Given the description of an element on the screen output the (x, y) to click on. 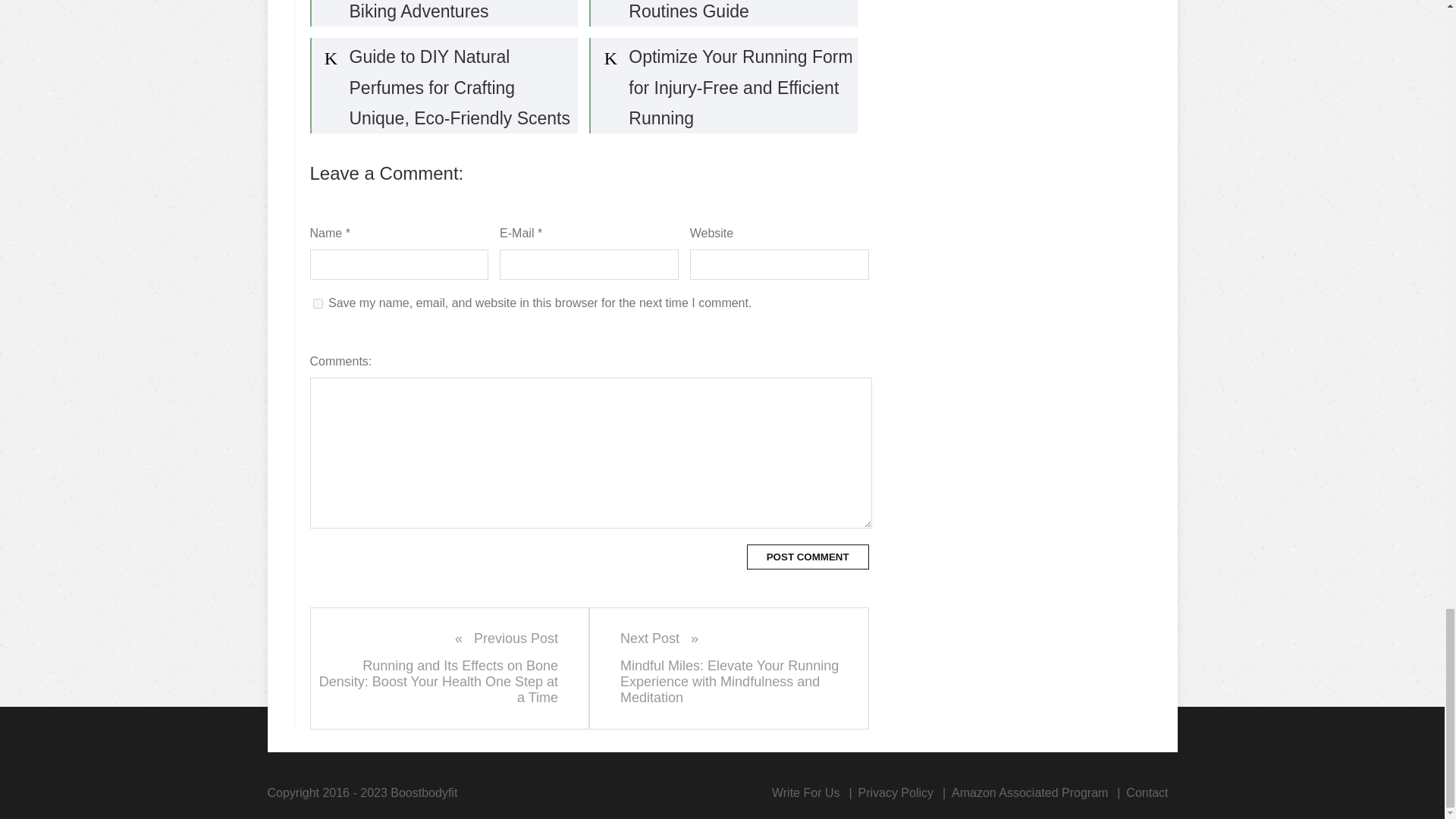
yes (317, 303)
Amazon Associated Program (1030, 792)
Write For Us (805, 792)
Privacy Policy (895, 792)
Post Comment (807, 556)
Post Comment (807, 556)
Contact (1146, 792)
